Given the description of an element on the screen output the (x, y) to click on. 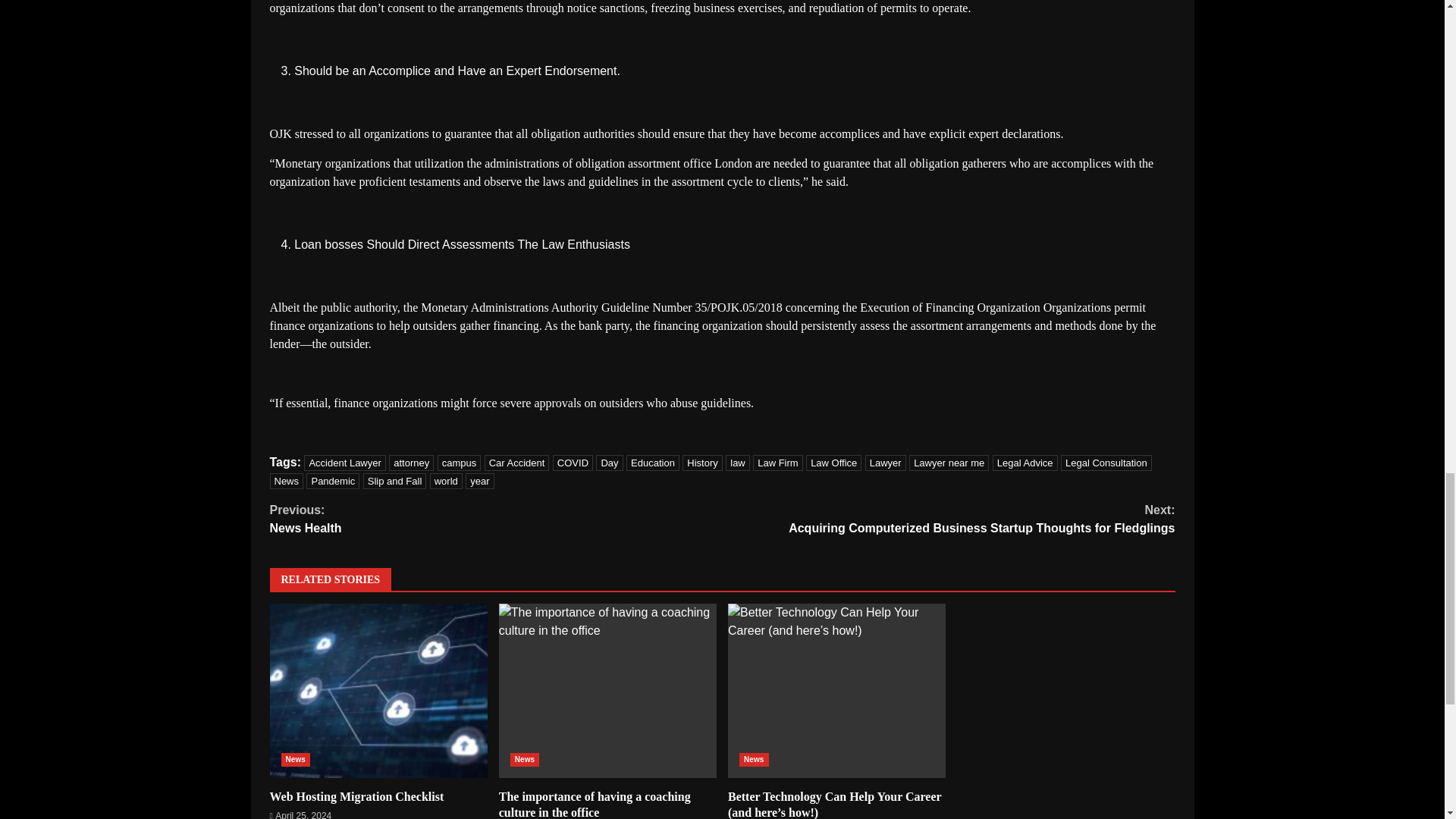
world (446, 480)
Car Accident (517, 462)
History (702, 462)
Education (652, 462)
Day (609, 462)
campus (459, 462)
The importance of having a coaching culture in the office (607, 690)
Legal Consultation (1106, 462)
Lawyer (884, 462)
Law Office (833, 462)
